Given the description of an element on the screen output the (x, y) to click on. 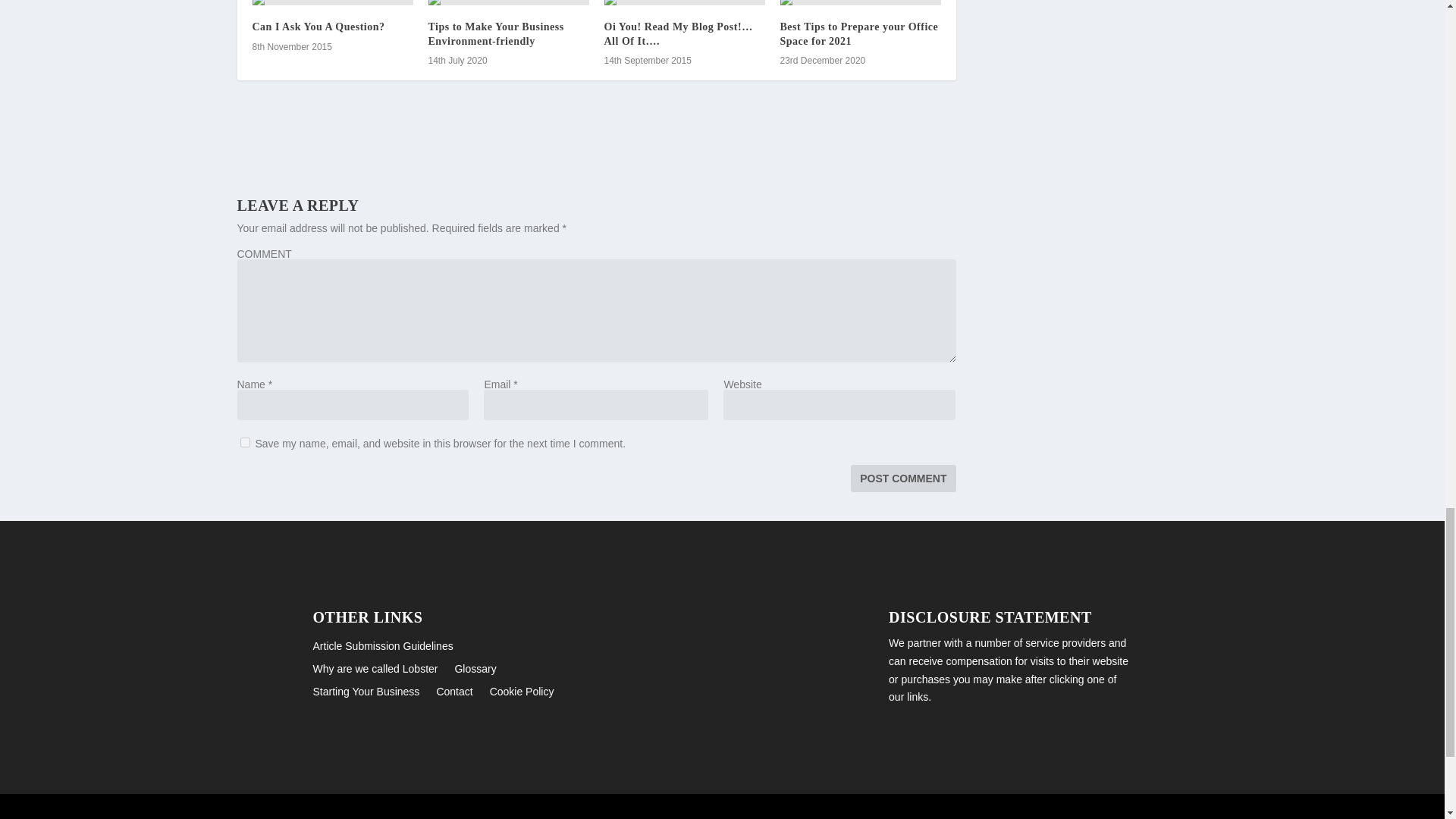
yes (244, 442)
Post Comment (902, 478)
